Given the description of an element on the screen output the (x, y) to click on. 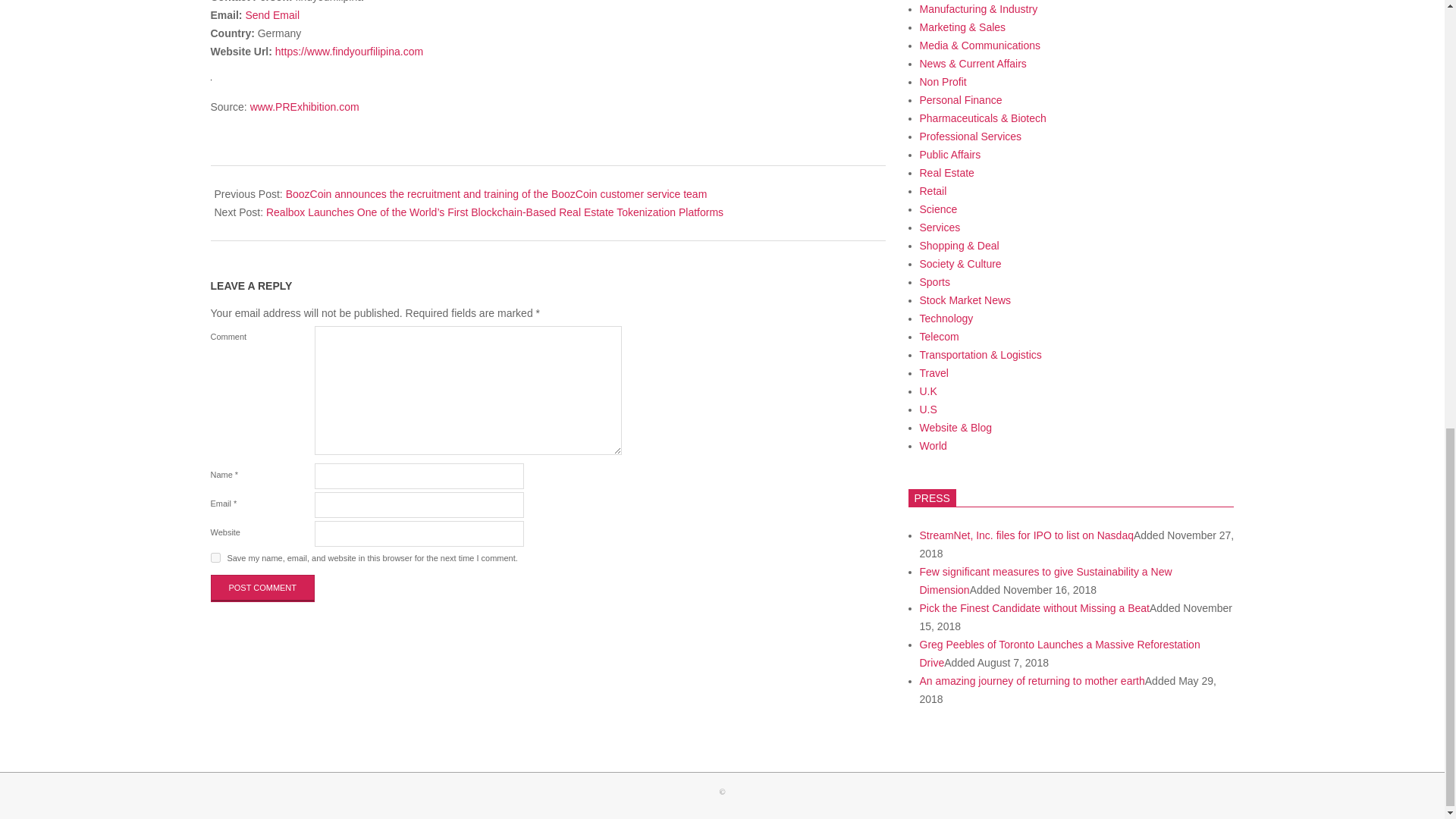
Send Email (271, 15)
www.PRExhibition.com (304, 106)
yes (216, 557)
Post Comment (263, 587)
Post Comment (263, 587)
